Given the description of an element on the screen output the (x, y) to click on. 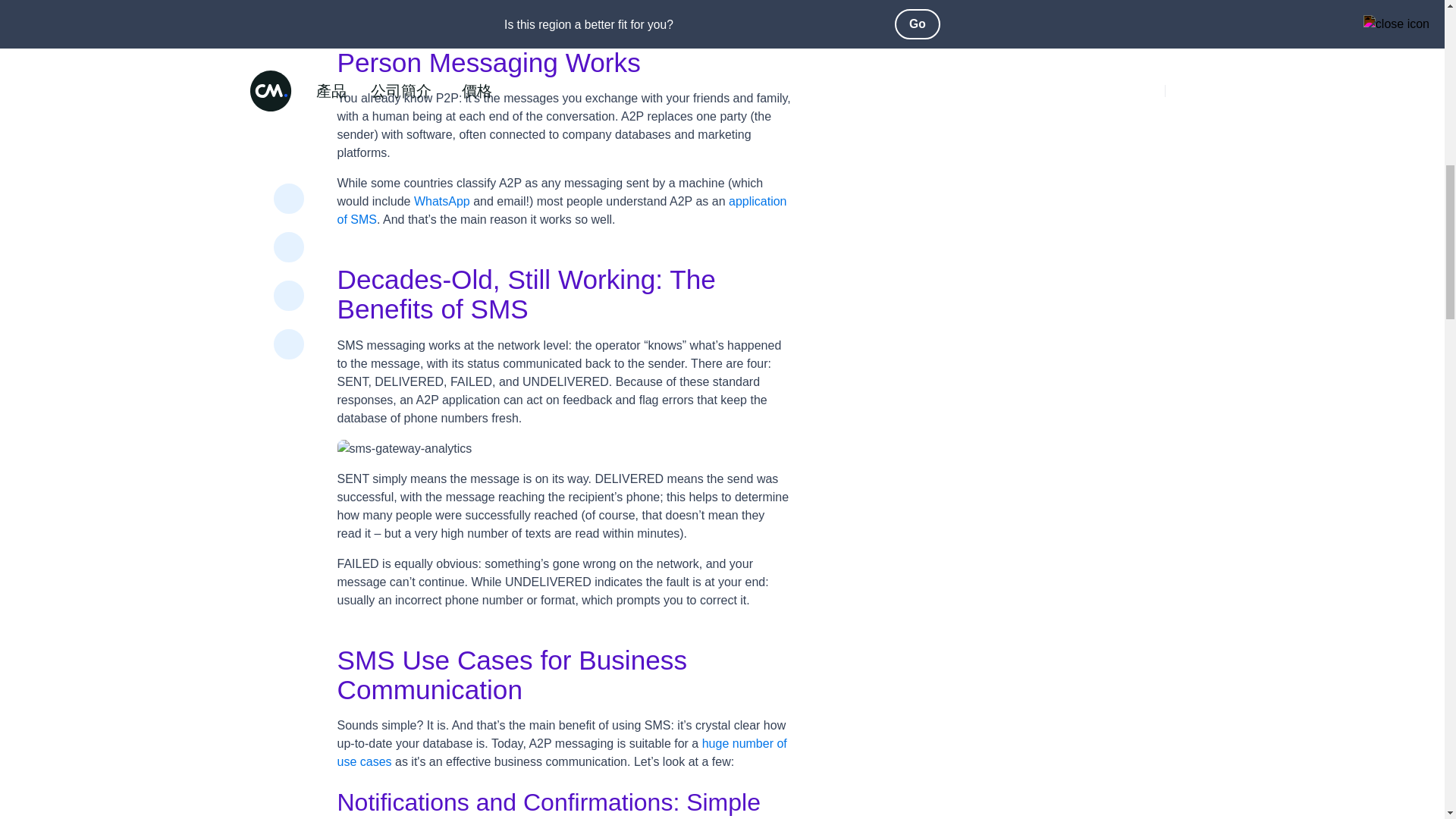
application of SMS (561, 210)
huge number of use cases (561, 752)
WhatsApp (441, 201)
